Given the description of an element on the screen output the (x, y) to click on. 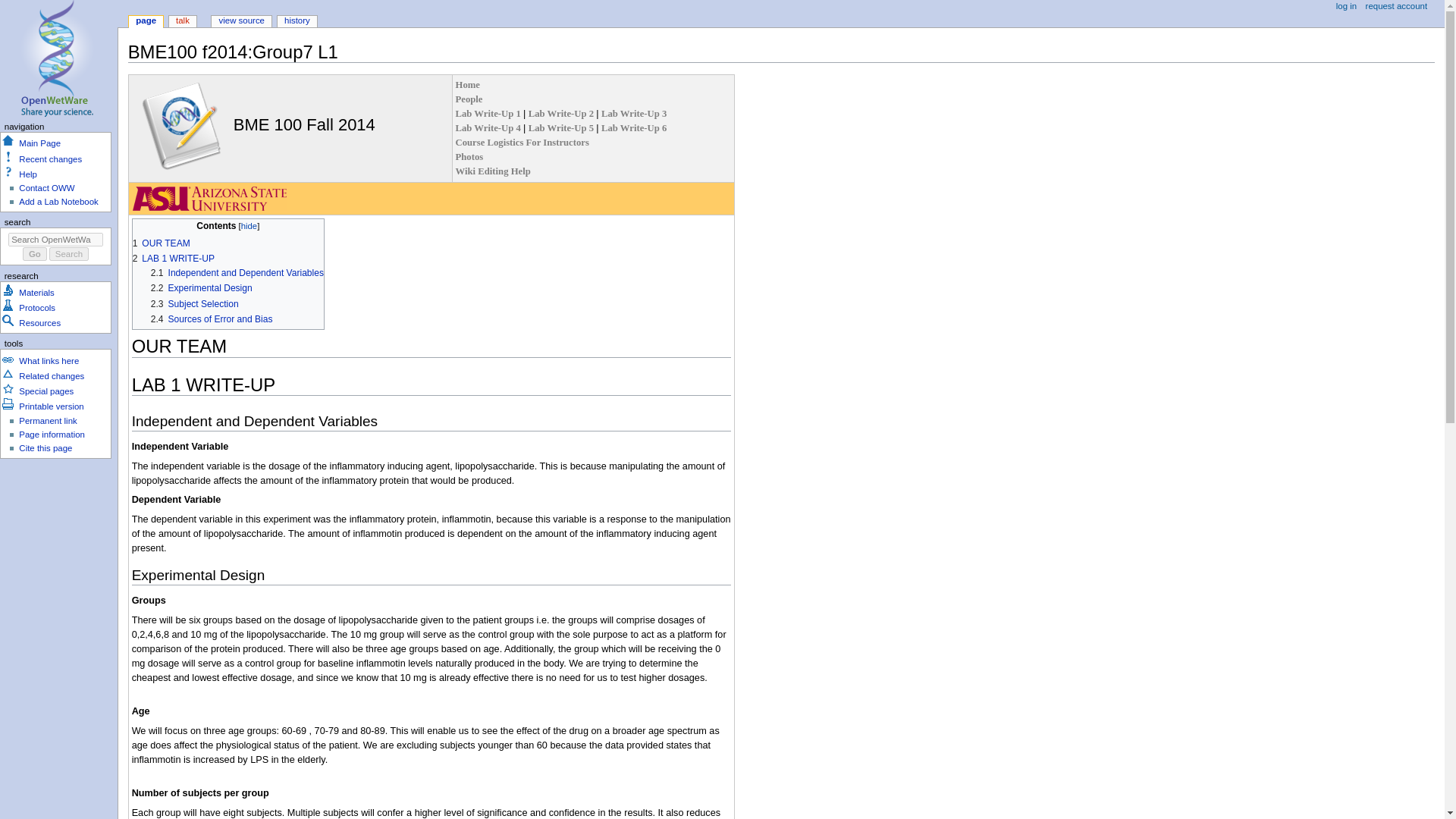
BME100 f2014 (467, 84)
People (469, 99)
view source (240, 21)
BME100 f2014:Projects3 (633, 113)
Photos (469, 156)
BME100 f2014:Projects5 (561, 127)
Help (27, 174)
1 OUR TEAM (161, 243)
Course Logistics For Instructors (522, 142)
Main Page (39, 143)
BME100 f2014:Projects2 (561, 113)
Lab Write-Up 6 (633, 127)
Go (34, 254)
Lab Write-Up 1 (488, 113)
BME100 f2014:WikiHelp (493, 171)
